Given the description of an element on the screen output the (x, y) to click on. 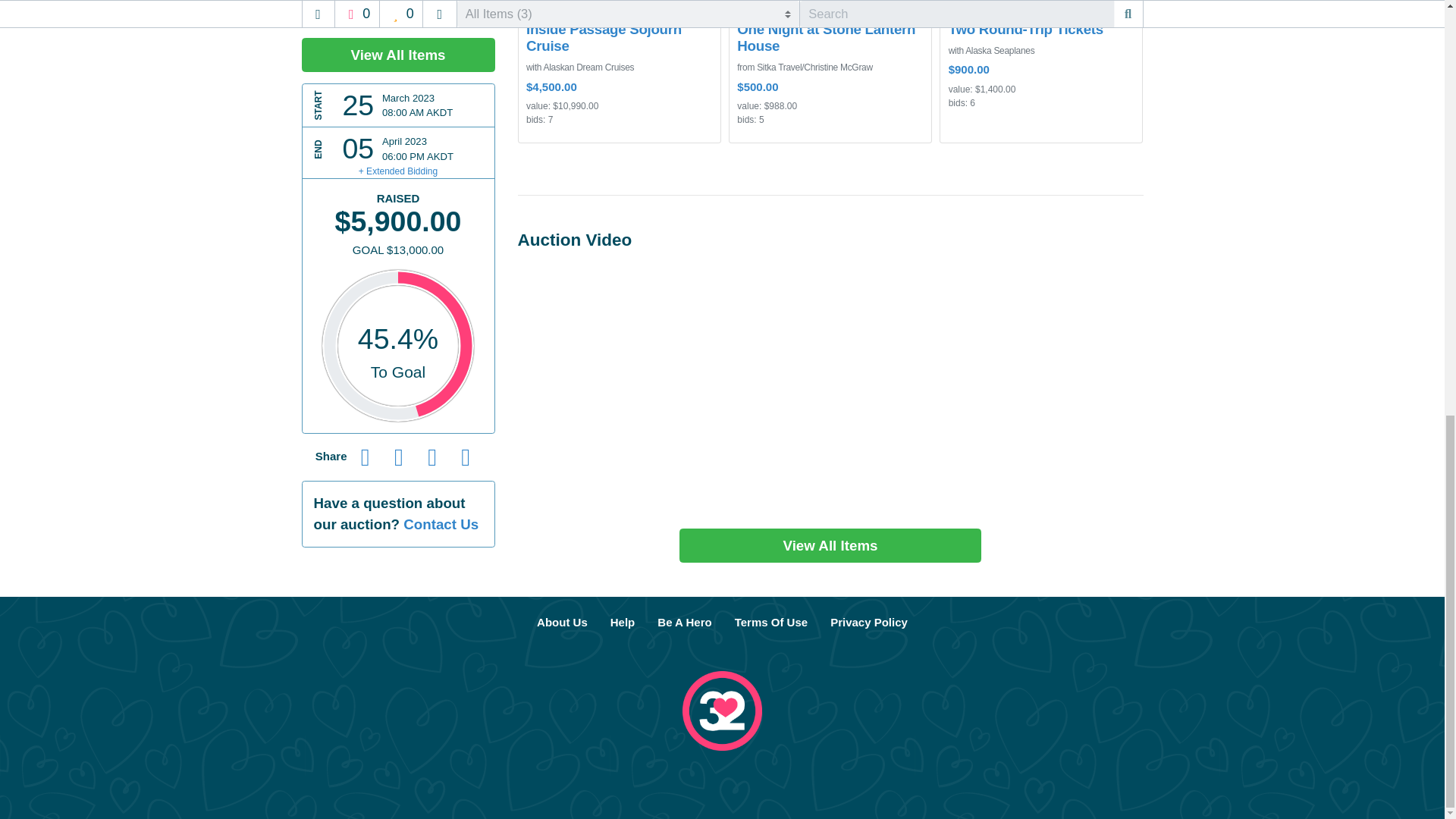
YouTube video player (829, 386)
View All Items (830, 545)
My Watchlist (706, 6)
About Us (561, 622)
Terms Of Use (770, 622)
Privacy Policy (868, 622)
Share on Facebook (365, 71)
My Watchlist (917, 6)
Share on Twitter (398, 71)
Contact Us (441, 139)
How to Run a Silent Auction The Step-by-Step Guide (684, 622)
Share QR Code (464, 71)
Help (622, 622)
Share by Email (431, 71)
Be A Hero (684, 622)
